Given the description of an element on the screen output the (x, y) to click on. 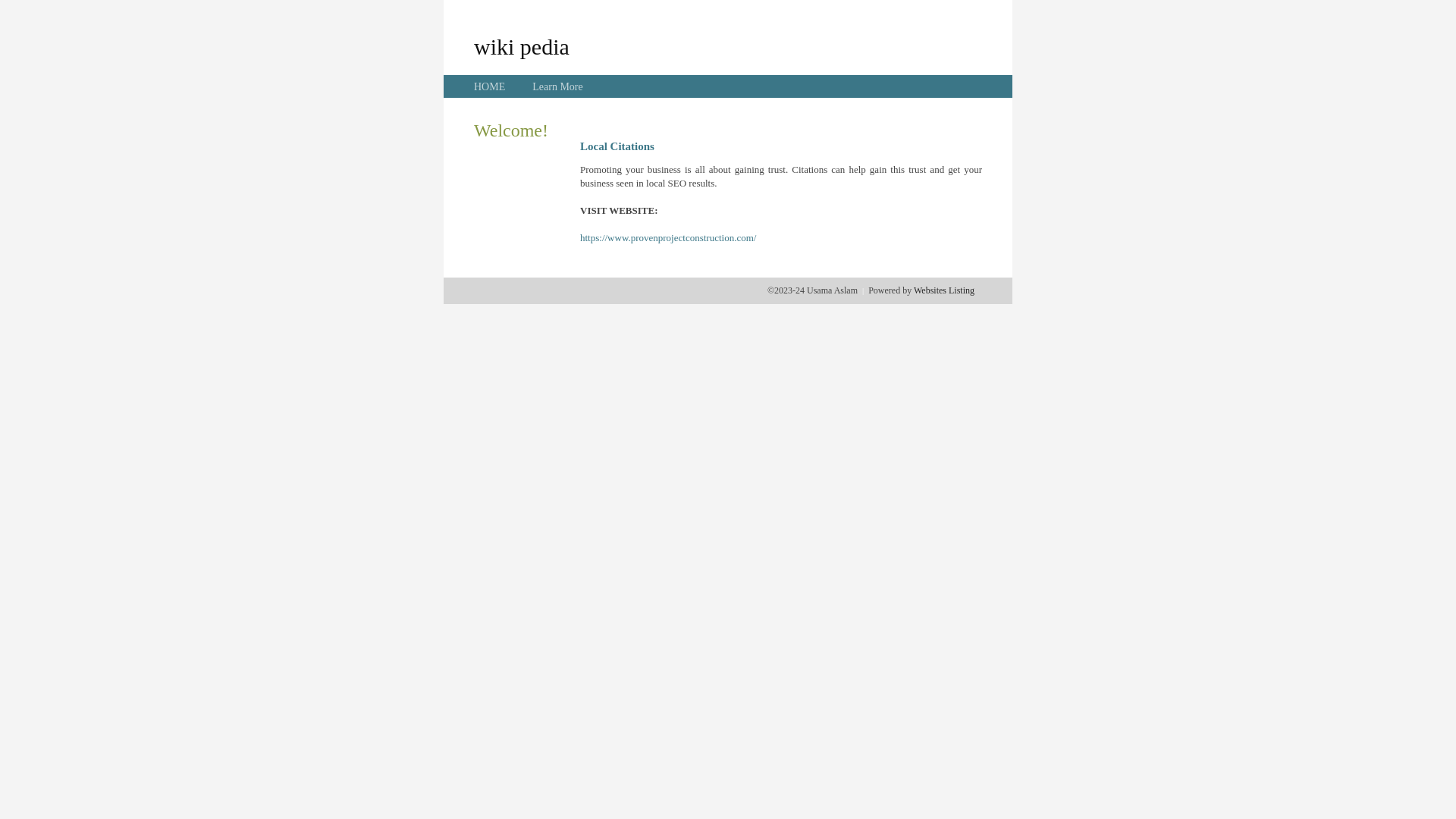
https://www.provenprojectconstruction.com/ Element type: text (668, 237)
wiki pedia Element type: text (521, 46)
Websites Listing Element type: text (943, 290)
HOME Element type: text (489, 86)
Learn More Element type: text (557, 86)
